Given the description of an element on the screen output the (x, y) to click on. 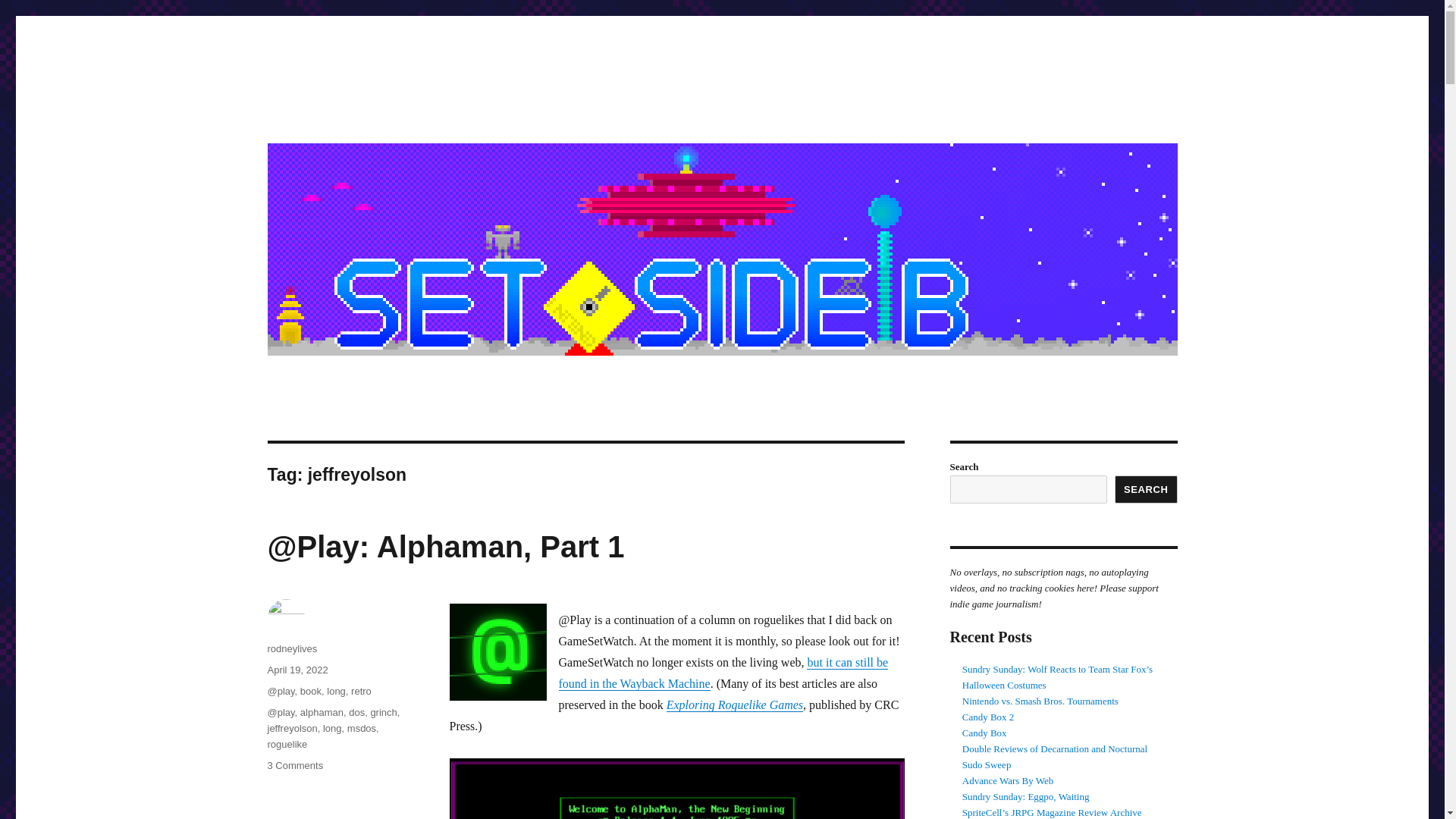
Candy Box (984, 732)
roguelike (286, 744)
alphaman (321, 712)
April 19, 2022 (296, 669)
but it can still be found in the Wayback Machine (722, 673)
SEARCH (1146, 489)
Candy Box 2 (988, 716)
jeffreyolson (291, 727)
long (336, 690)
dos (357, 712)
